Given the description of an element on the screen output the (x, y) to click on. 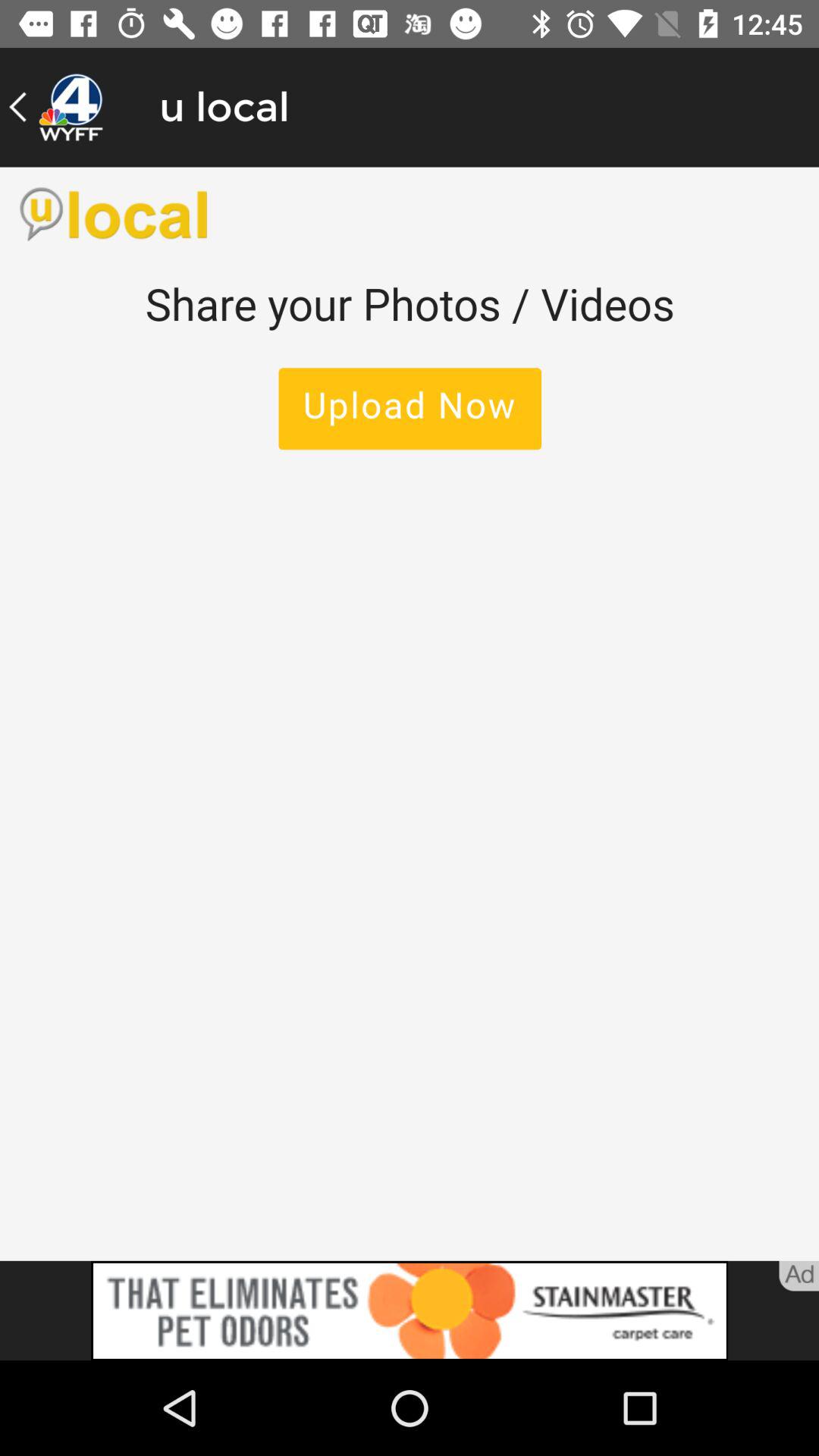
advertisement (409, 1310)
